Given the description of an element on the screen output the (x, y) to click on. 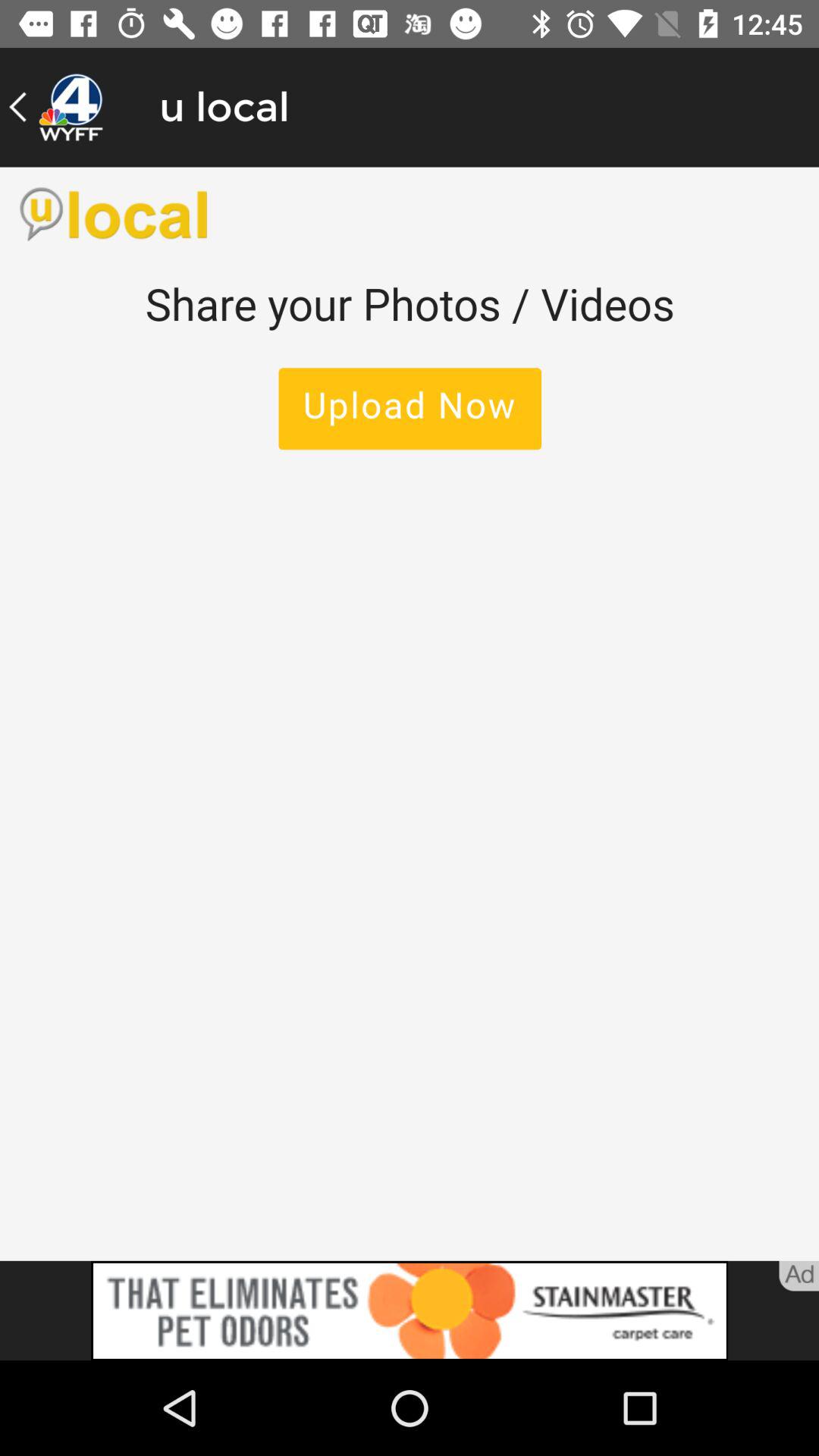
advertisement (409, 1310)
